Given the description of an element on the screen output the (x, y) to click on. 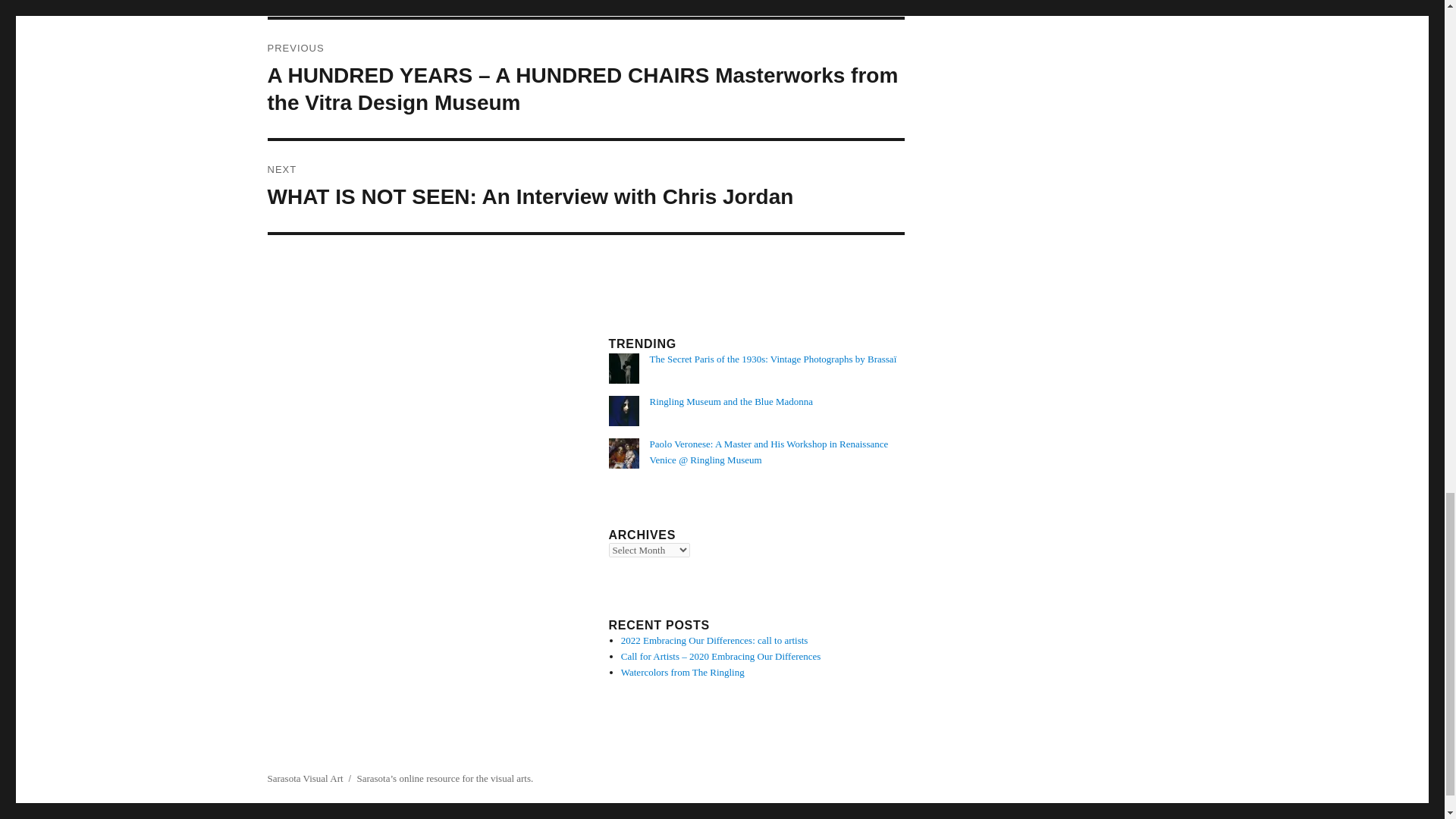
Watercolors from The Ringling (682, 672)
2022 Embracing Our Differences: call to artists (714, 640)
Ringling Museum and the Blue Madonna (731, 401)
Ringling Museum and the Blue Madonna (731, 401)
